Given the description of an element on the screen output the (x, y) to click on. 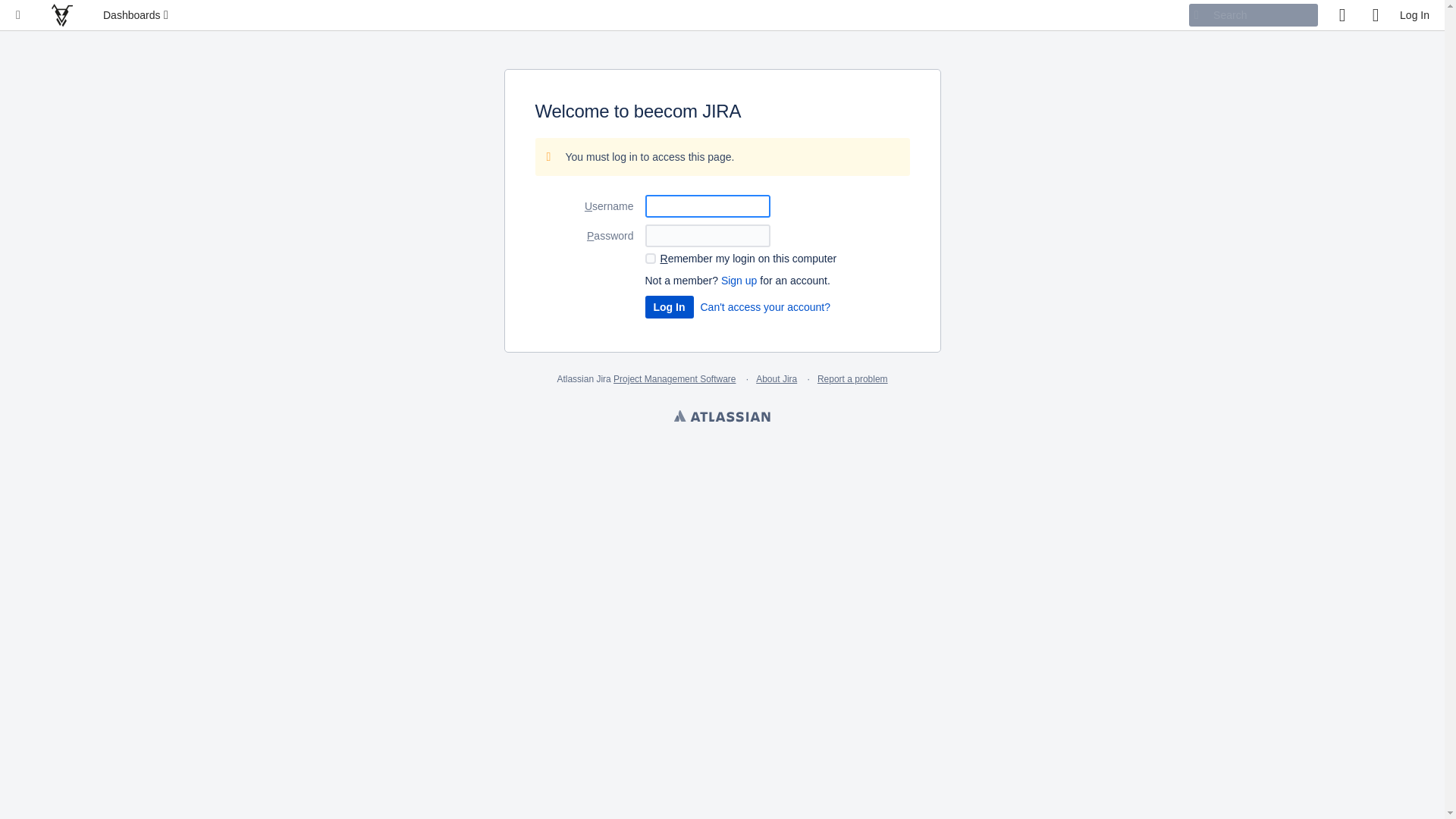
Search Element type: hover (1253, 14)
About Jira Element type: text (776, 378)
Report a problem Element type: text (852, 378)
Sign up Element type: text (738, 280)
Press Alt+s to submit this form Element type: hover (668, 306)
Help Element type: text (1375, 15)
Project Management Software Element type: text (674, 378)
Give feedback to Atlassian Element type: text (1341, 15)
Log In Element type: text (1414, 15)
Linked Applications Element type: text (17, 15)
Log In Element type: text (668, 306)
Atlassian Element type: text (722, 417)
Dashboards Element type: text (136, 15)
Can't access your account? Element type: text (765, 306)
